Given the description of an element on the screen output the (x, y) to click on. 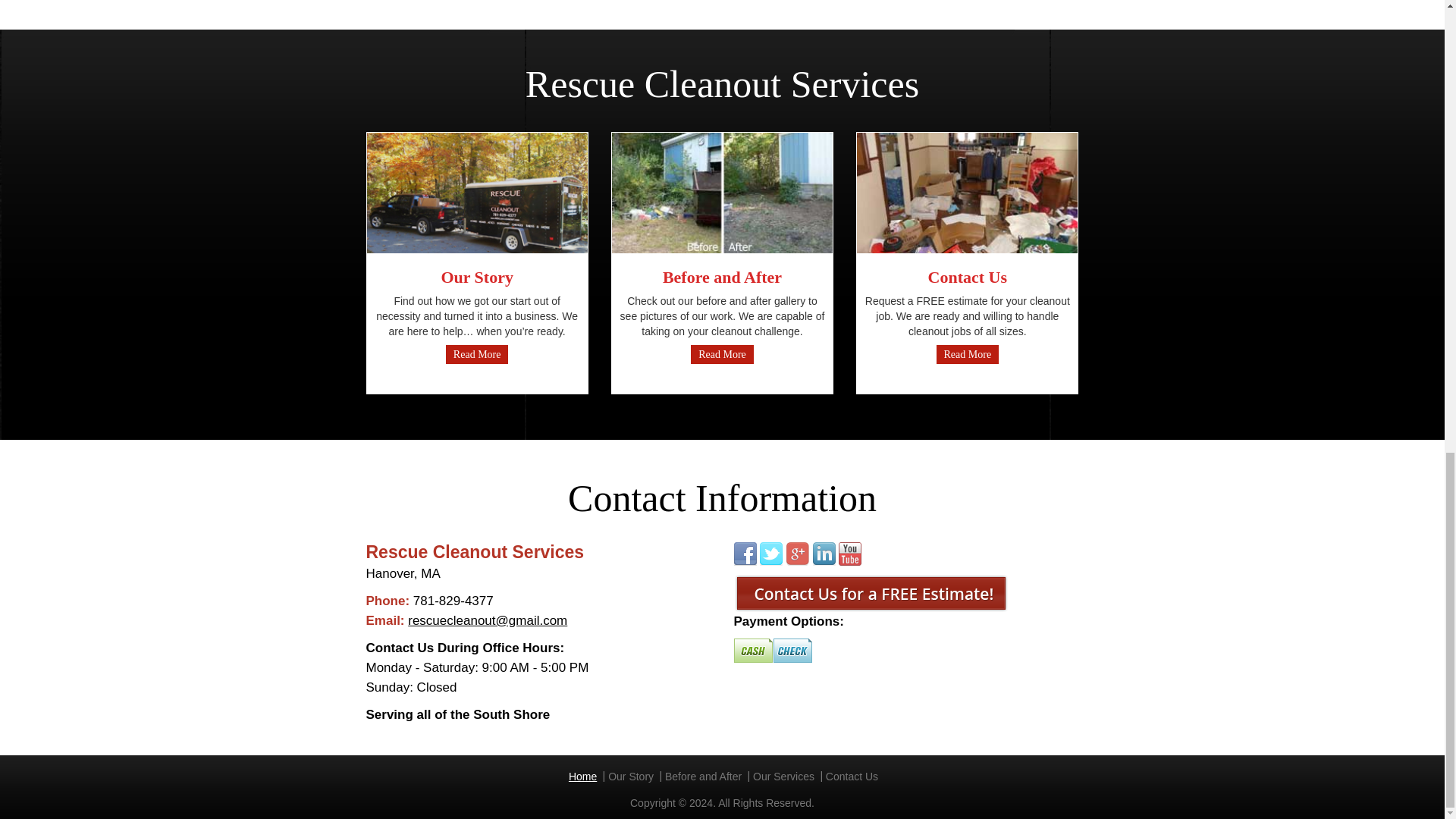
Home (582, 776)
Facebook (745, 553)
Read More (722, 353)
Google Plus (797, 553)
Twitter (771, 553)
Contact Us (851, 776)
Our Services (782, 776)
Our Story (630, 776)
LinkedIn (823, 553)
YouTube (849, 553)
Before and After (703, 776)
Read More (476, 353)
Read More (967, 353)
